Given the description of an element on the screen output the (x, y) to click on. 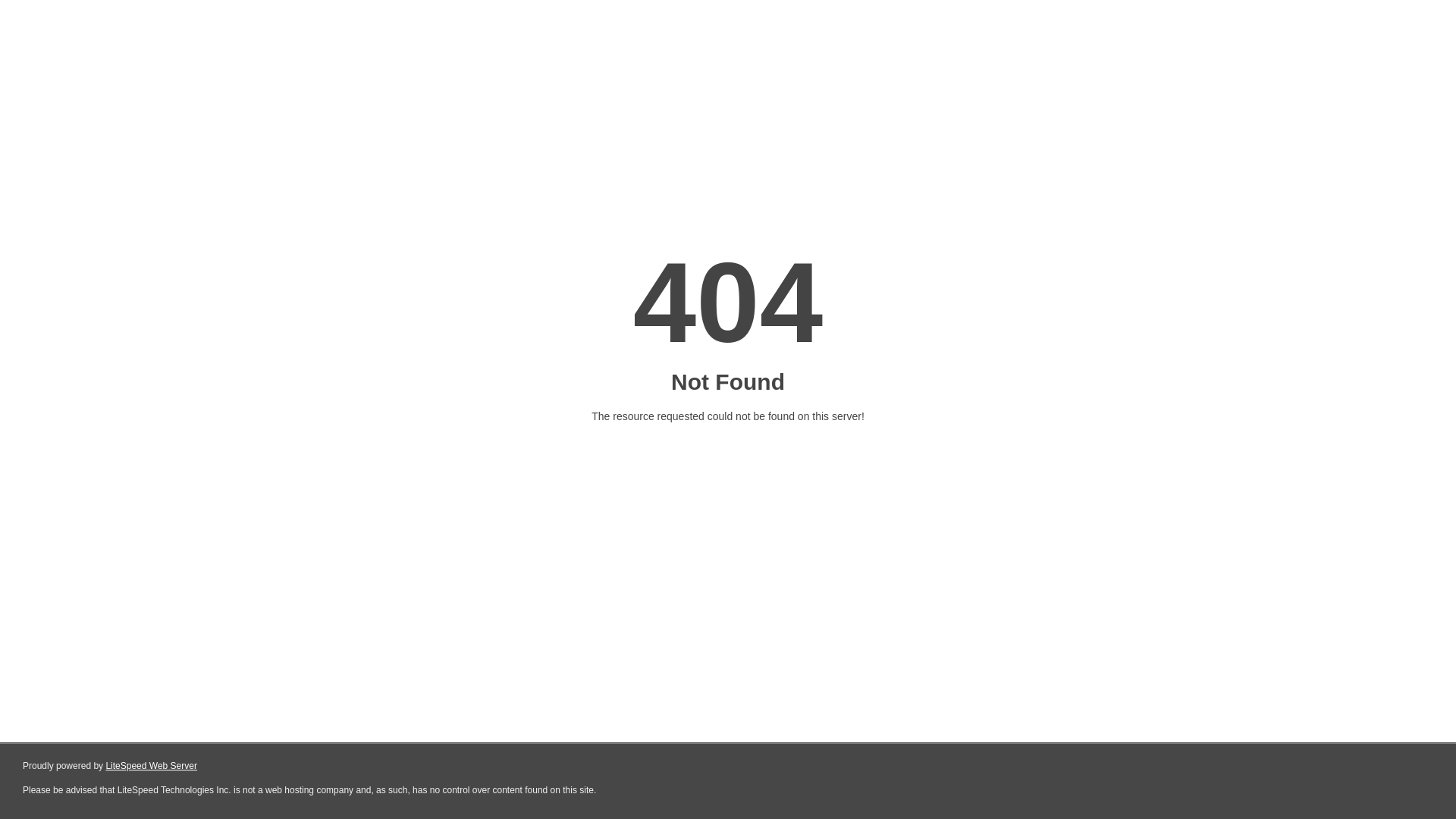
LiteSpeed Web Server Element type: text (151, 765)
